Given the description of an element on the screen output the (x, y) to click on. 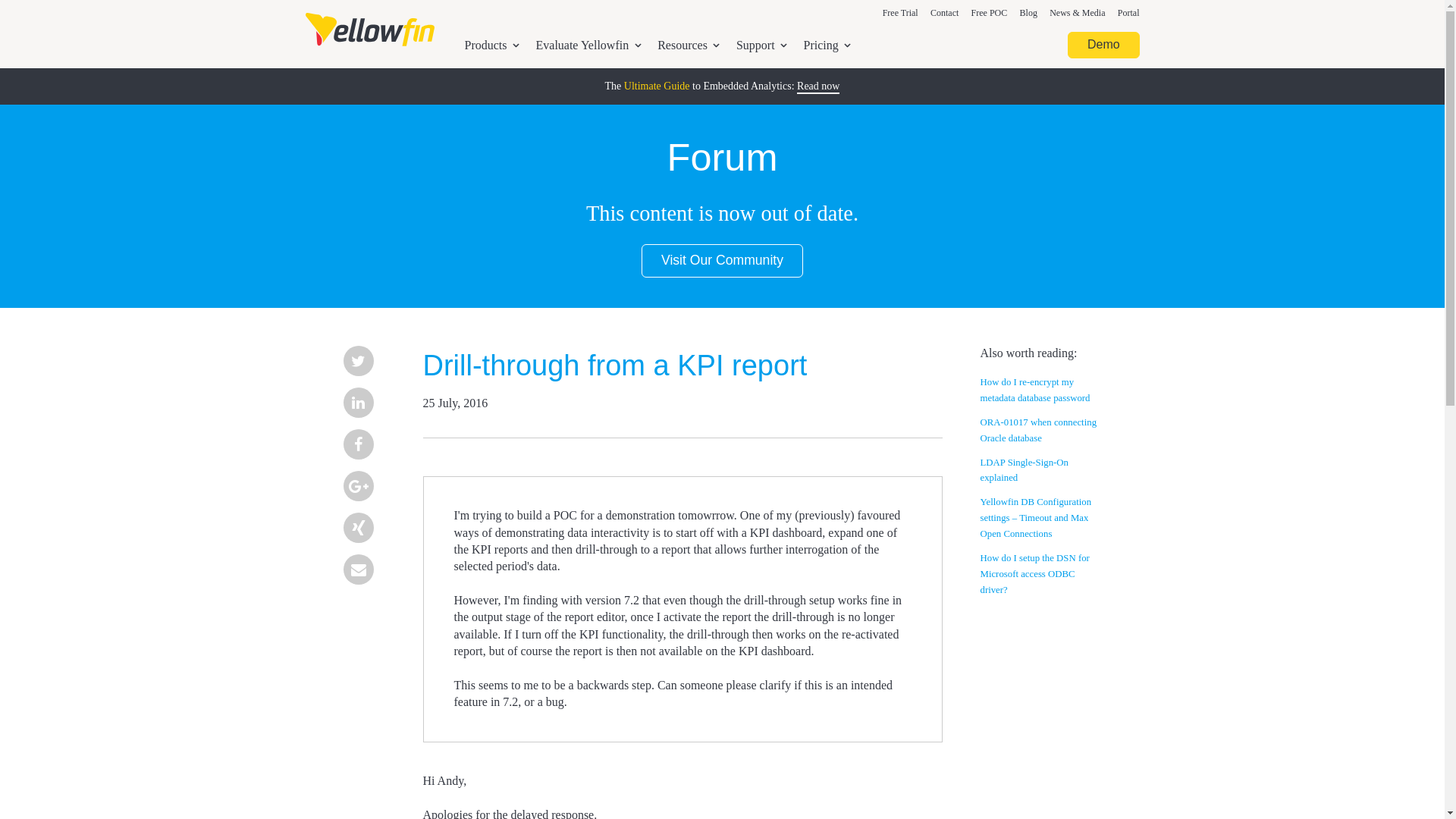
Evaluate Yellowfin (588, 45)
Resources (689, 45)
Products (491, 45)
